Given the description of an element on the screen output the (x, y) to click on. 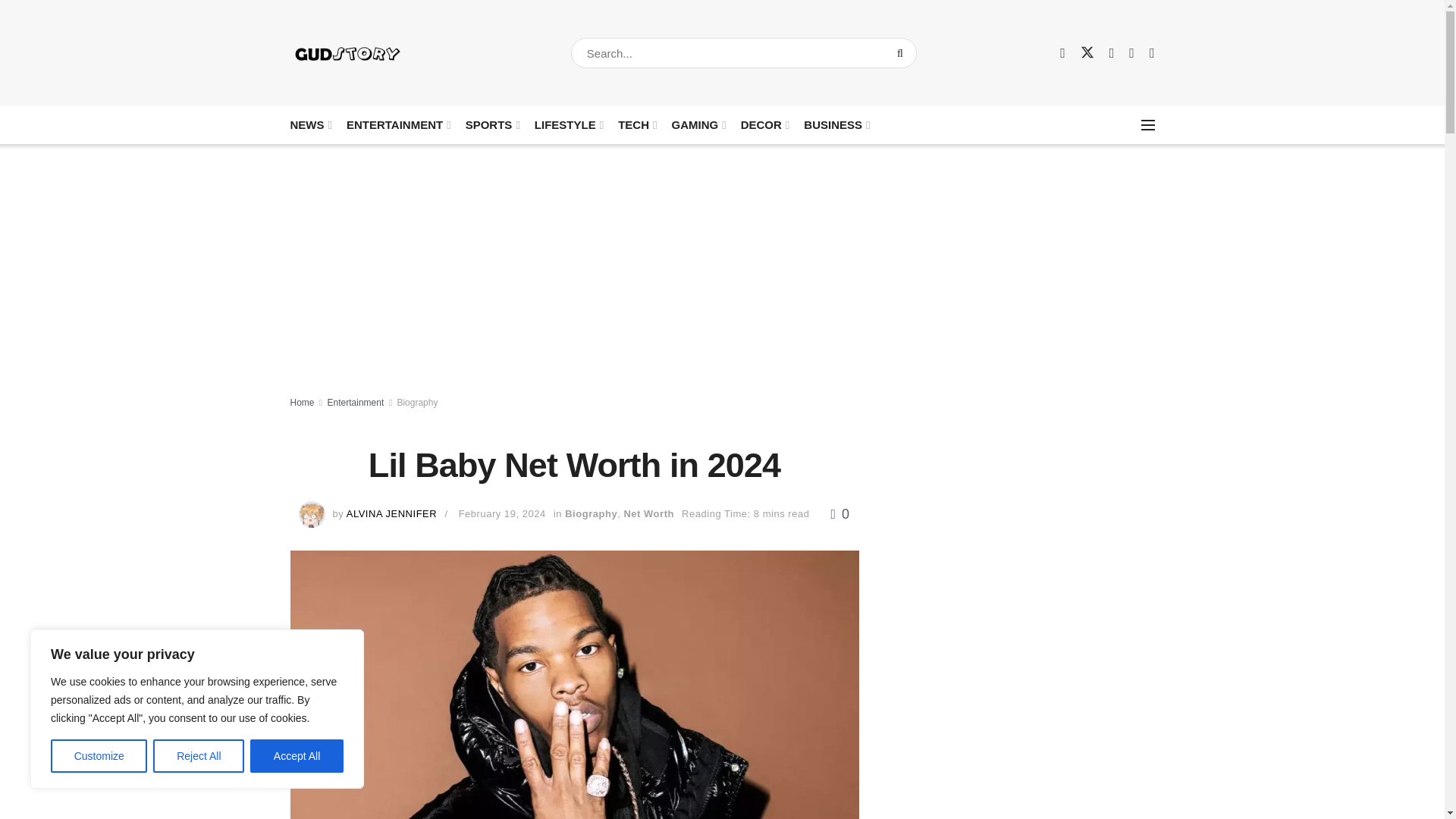
Customize (98, 756)
Advertisement (1023, 508)
NEWS (309, 124)
Reject All (198, 756)
Advertisement (1023, 732)
Accept All (296, 756)
